Given the description of an element on the screen output the (x, y) to click on. 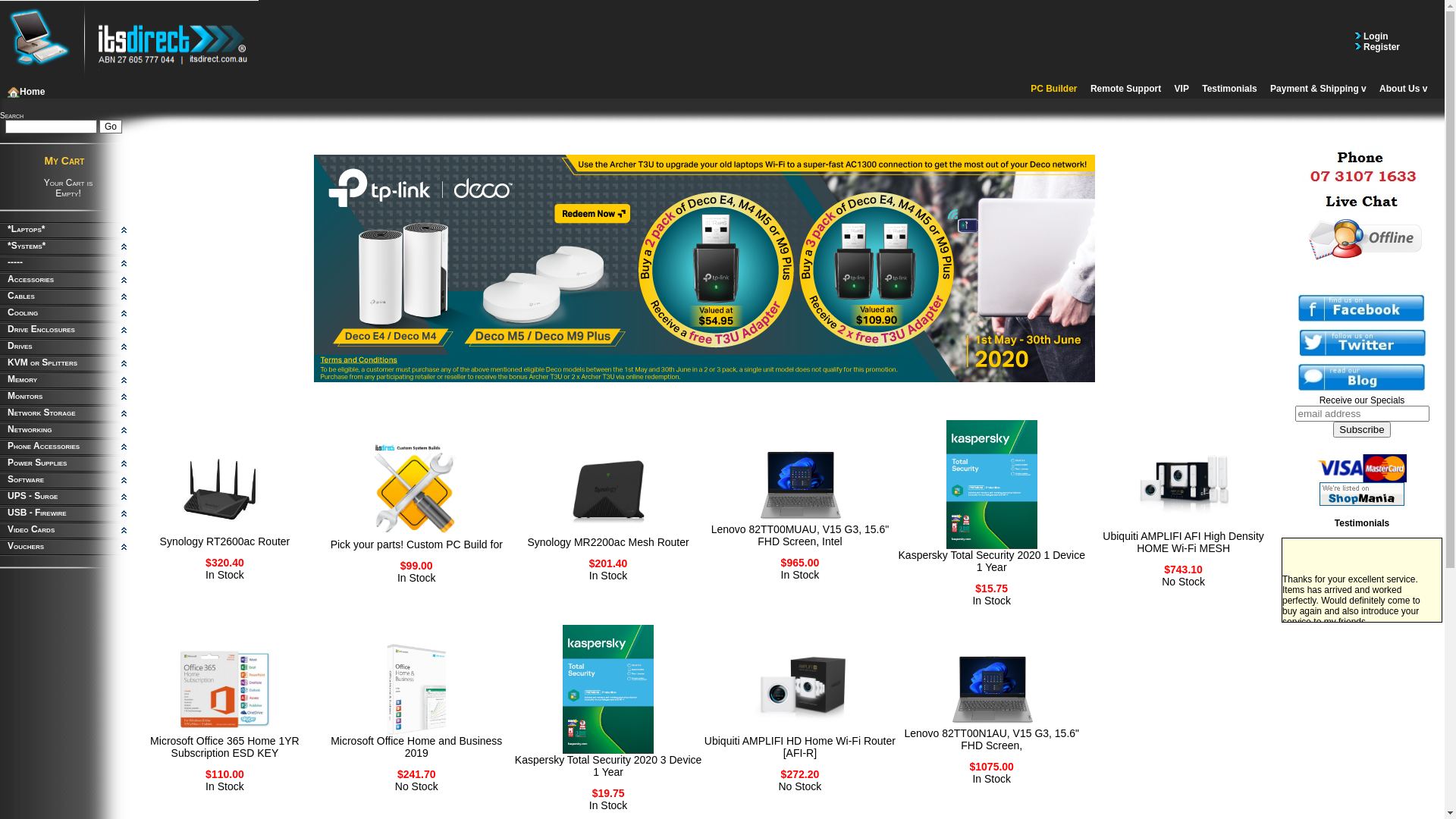
VIP Element type: text (1181, 88)
Testimonials Element type: text (1228, 88)
Subscribe Element type: text (1361, 429)
Register Element type: text (1380, 45)
Remote Support Element type: text (1125, 88)
Live Help - Offline Element type: hover (1361, 237)
PC Builder Element type: text (1053, 88)
About Us Element type: text (1403, 88)
Home Element type: text (25, 91)
Go Element type: text (110, 126)
My Cart

Your Cart is
Empty! Element type: text (64, 176)
Payment & Shipping Element type: text (1317, 88)
Visit ITSdirect on ShopMania Element type: hover (1361, 493)
Login Element type: text (1374, 35)
